Given the description of an element on the screen output the (x, y) to click on. 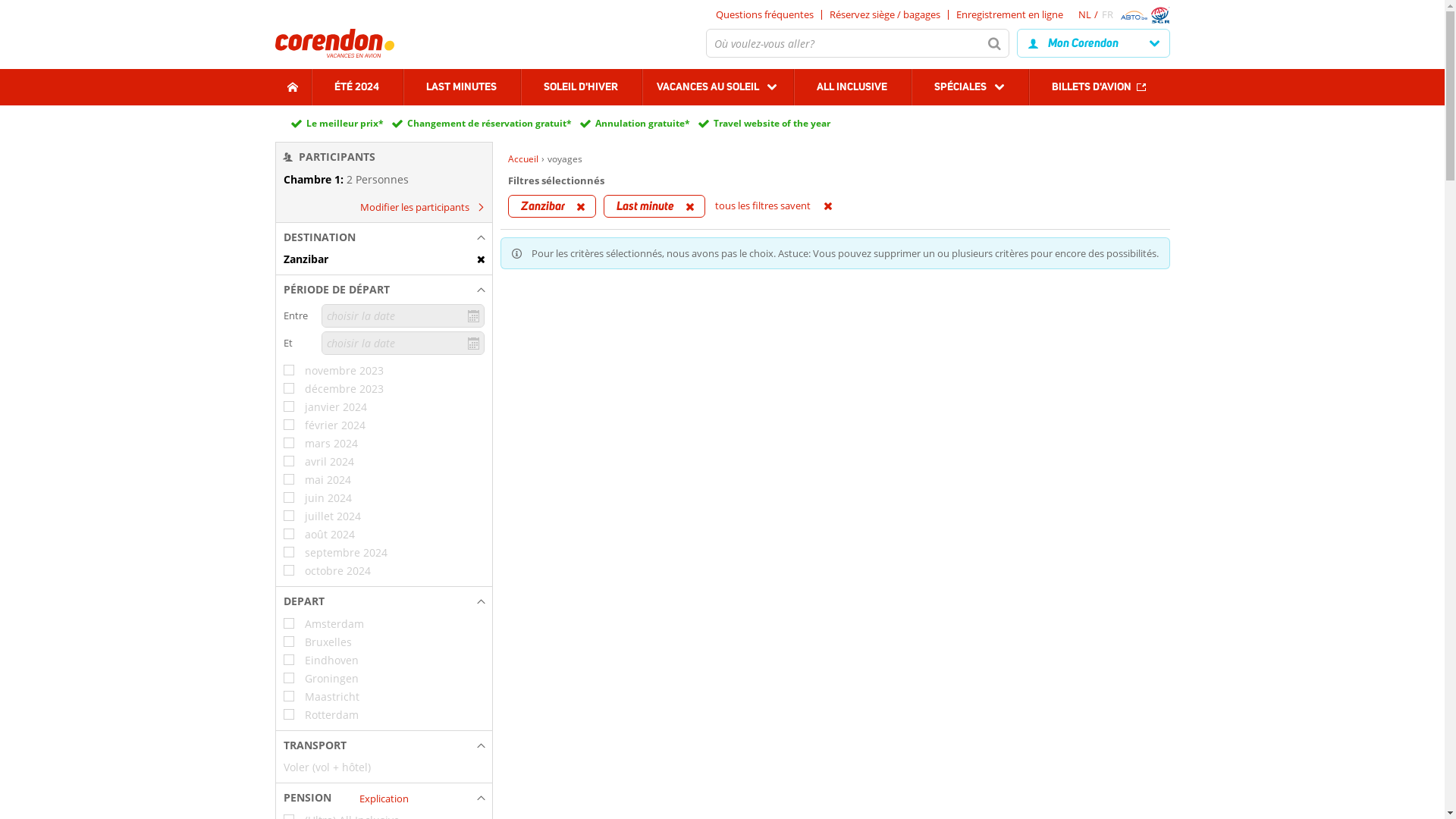
Home Element type: hover (292, 87)
Last minute Element type: text (654, 205)
SOLEIL D'HIVER Element type: text (580, 87)
Zanzibar Element type: text (552, 205)
Le meilleur prix* Element type: text (344, 123)
Modifier les participants Element type: text (418, 206)
NL Element type: text (1089, 14)
FR Element type: text (1106, 14)
tous les filtres savent Element type: text (784, 205)
LAST MINUTES Element type: text (460, 87)
ALL INCLUSIVE Element type: text (851, 87)
Annulation gratuite* Element type: text (641, 123)
Enregistrement en ligne Element type: text (1009, 13)
Explication Element type: text (383, 797)
Zanzibar Element type: text (384, 258)
Accueil Element type: text (523, 158)
BILLETS D'AVION Element type: text (1099, 87)
